Given the description of an element on the screen output the (x, y) to click on. 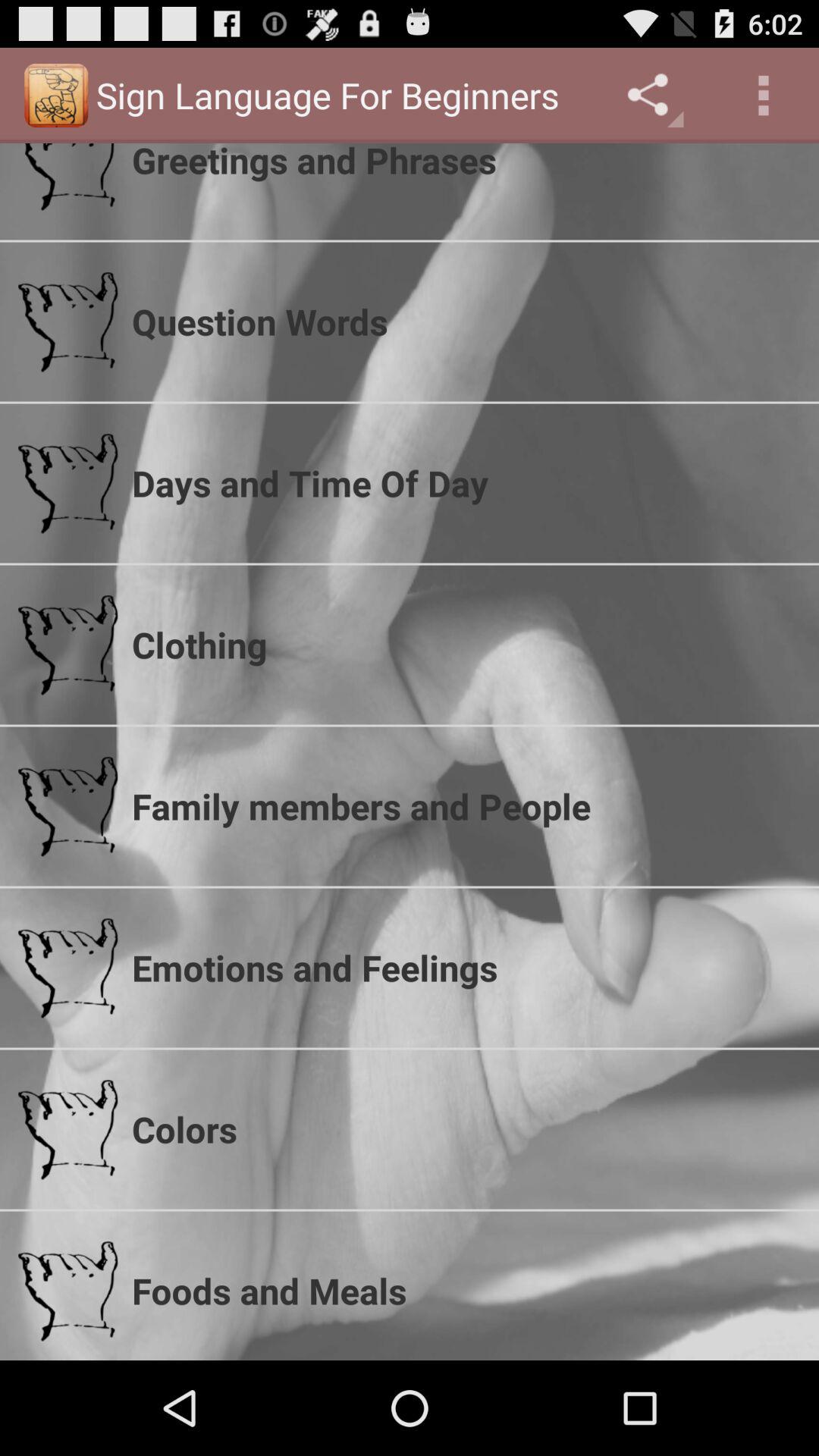
turn off icon above the days and time app (465, 321)
